Given the description of an element on the screen output the (x, y) to click on. 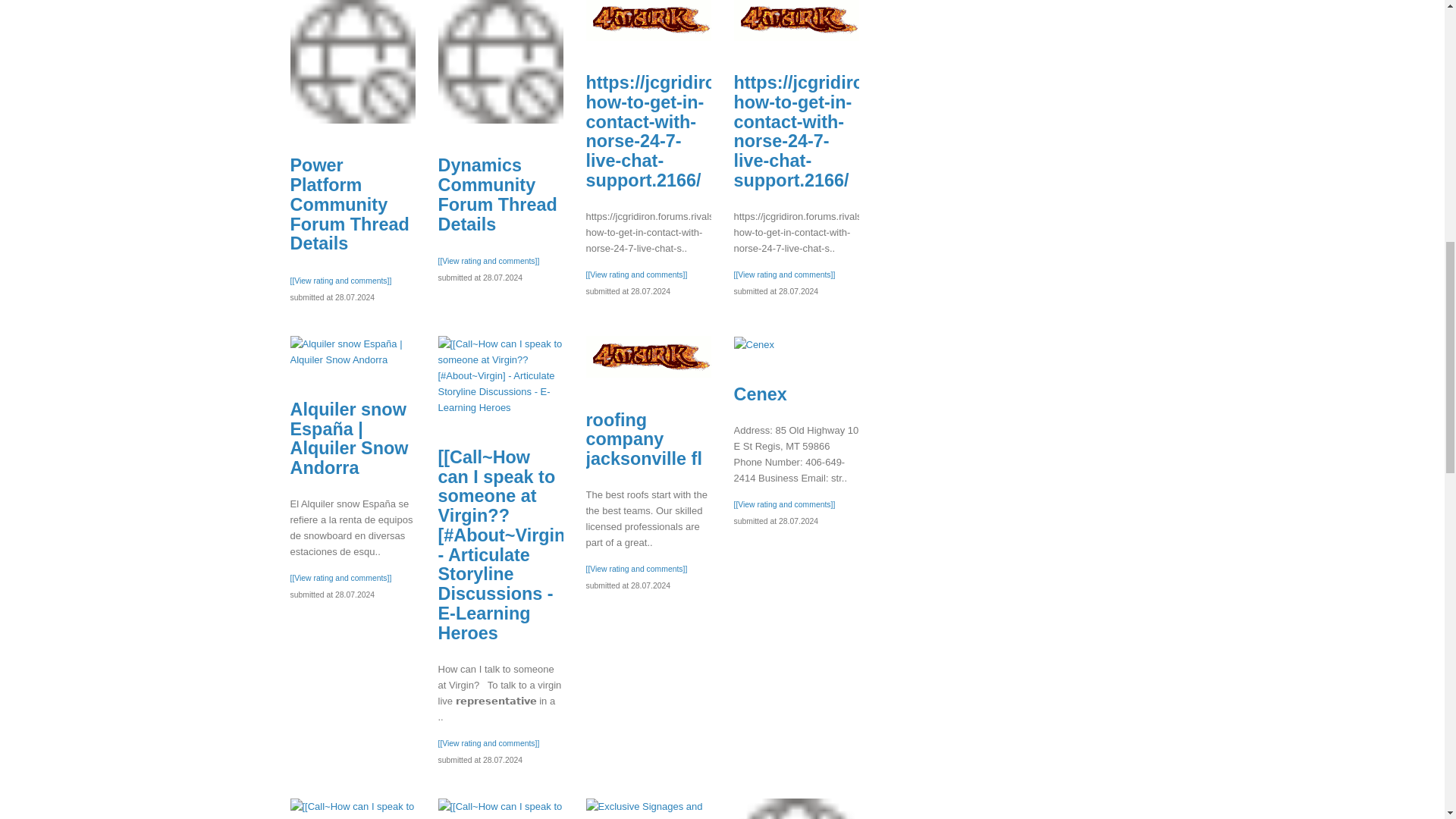
Cenex (760, 394)
Dynamics Community Forum Thread Details (497, 194)
Exclusive Signages and fleet graphics by Roots Ad (351, 61)
			Dynamics Community Forum Thread Details		 (647, 808)
roofing company jacksonville fl  (796, 808)
roofing company jacksonville fl (647, 356)
Cenex (643, 439)
Power Platform Community Forum Thread Details (500, 61)
